Given the description of an element on the screen output the (x, y) to click on. 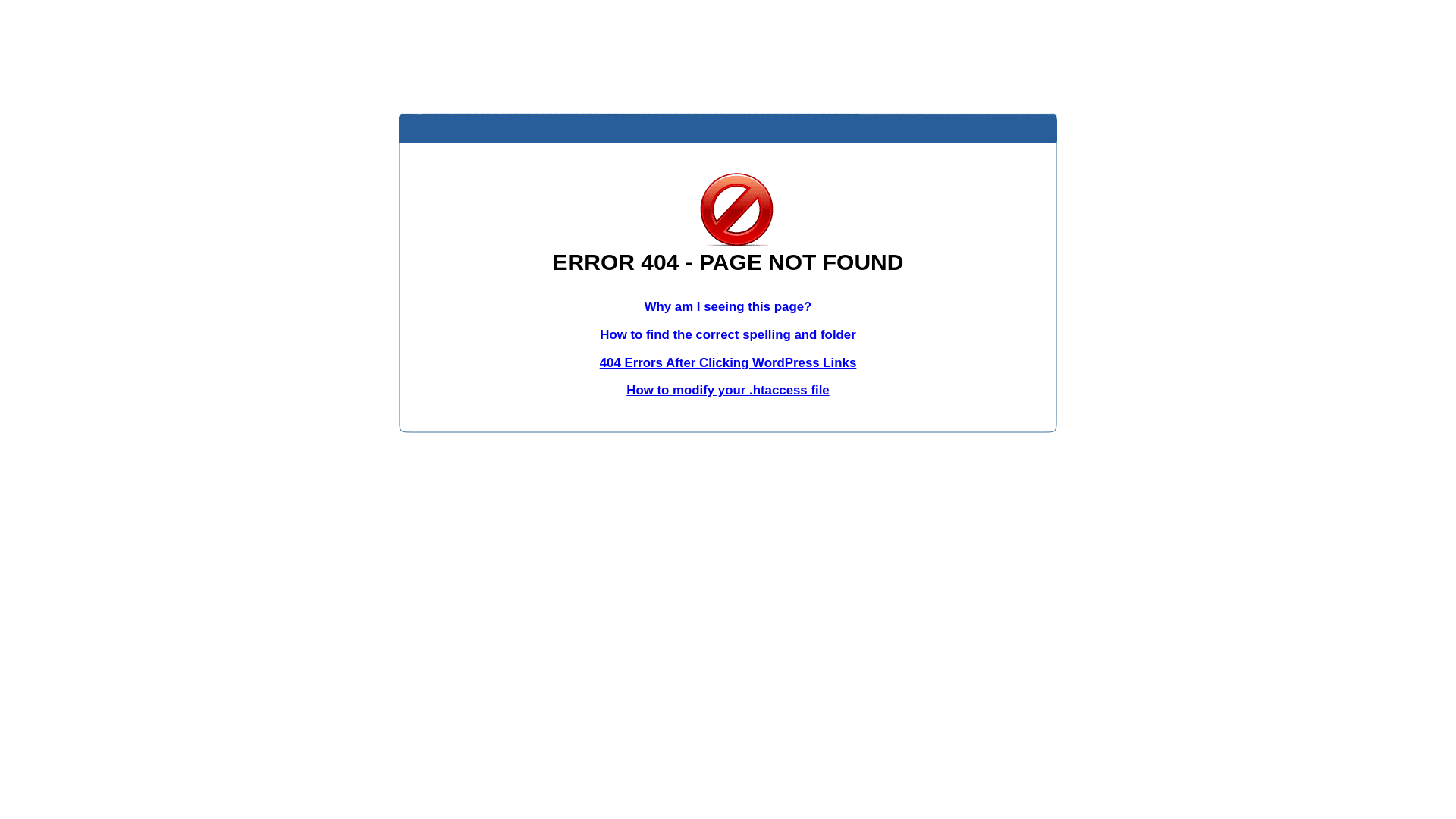
How to modify your .htaccess file Element type: text (727, 389)
Why am I seeing this page? Element type: text (728, 306)
404 Errors After Clicking WordPress Links Element type: text (727, 362)
How to find the correct spelling and folder Element type: text (727, 334)
